Given the description of an element on the screen output the (x, y) to click on. 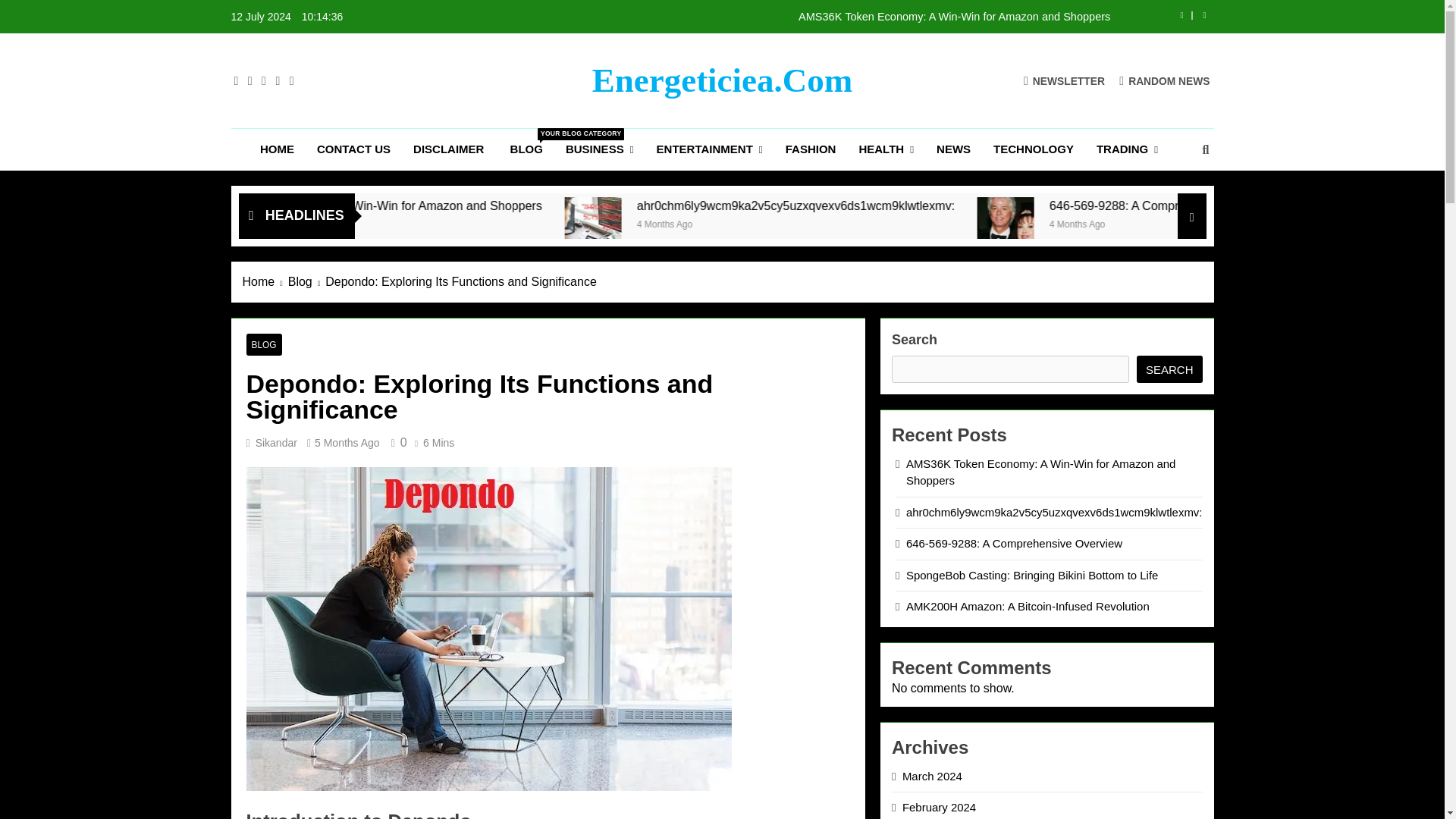
DISCLAIMER  (450, 148)
Energeticiea.Com (722, 80)
646-569-9288: A Comprehensive Overview (1153, 225)
HEALTH (885, 149)
NEWSLETTER (1064, 80)
ahr0chm6ly9wcm9ka2v5cy5uzxqvexv6ds1wcm9klwtlexmv: (745, 225)
AMS36K Token Economy: A Win-Win for Amazon and Shoppers (817, 16)
ENTERTAINMENT (709, 149)
HOME (276, 148)
ahr0chm6ly9wcm9ka2v5cy5uzxqvexv6ds1wcm9klwtlexmv: (747, 225)
AMS36K Token Economy: A Win-Win for Amazon and Shoppers (527, 205)
FASHION (810, 148)
CONTACT US (353, 148)
RANDOM NEWS (1164, 80)
BUSINESS (599, 149)
